Given the description of an element on the screen output the (x, y) to click on. 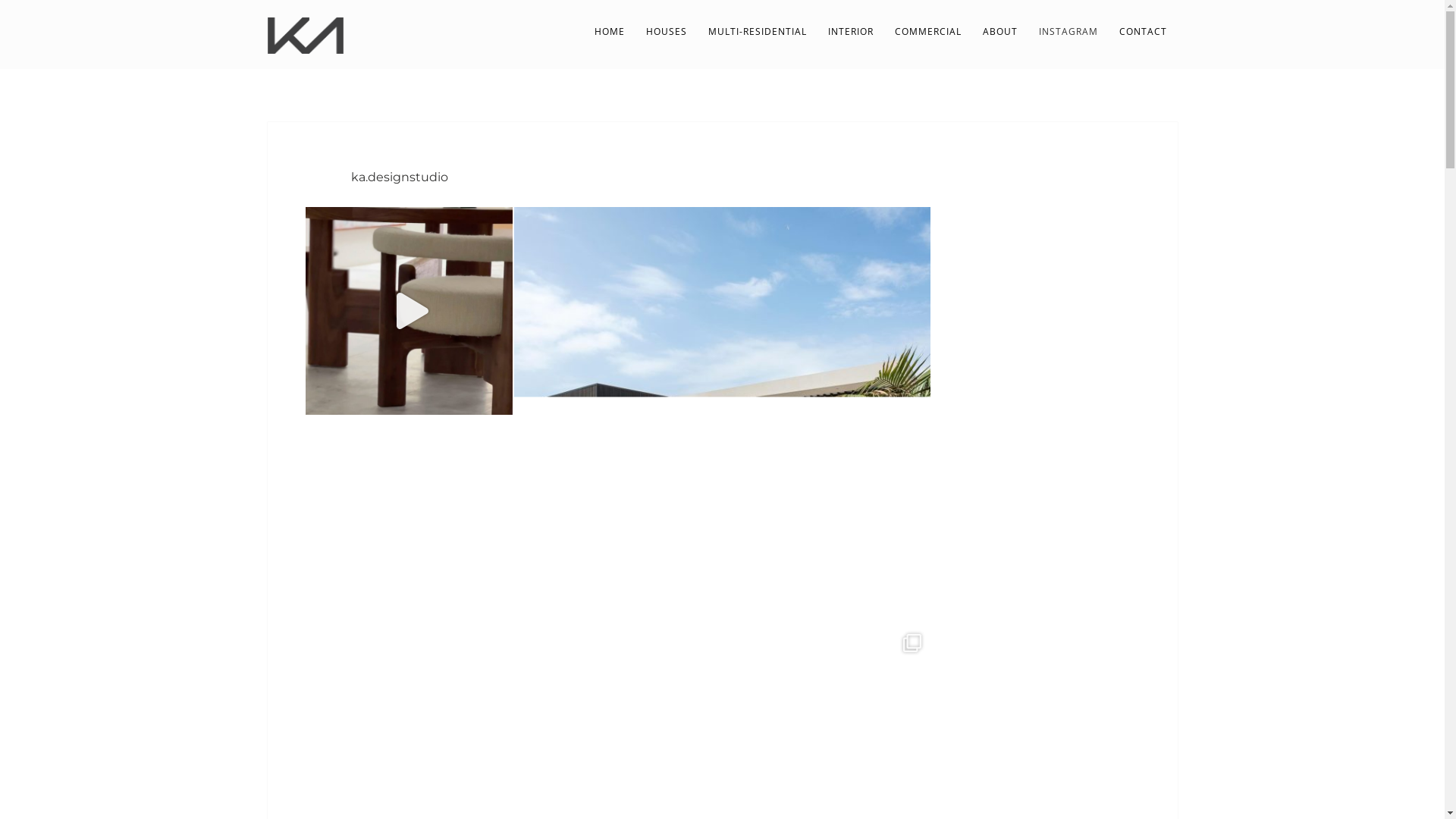
COMMERCIAL Element type: text (928, 31)
INTERIOR Element type: text (850, 31)
ka.designstudio Element type: text (375, 178)
HOME Element type: text (609, 31)
CONTACT Element type: text (1142, 31)
ABOUT Element type: text (1000, 31)
INSTAGRAM Element type: text (1068, 31)
MULTI-RESIDENTIAL Element type: text (757, 31)
HOUSES Element type: text (666, 31)
